Given the description of an element on the screen output the (x, y) to click on. 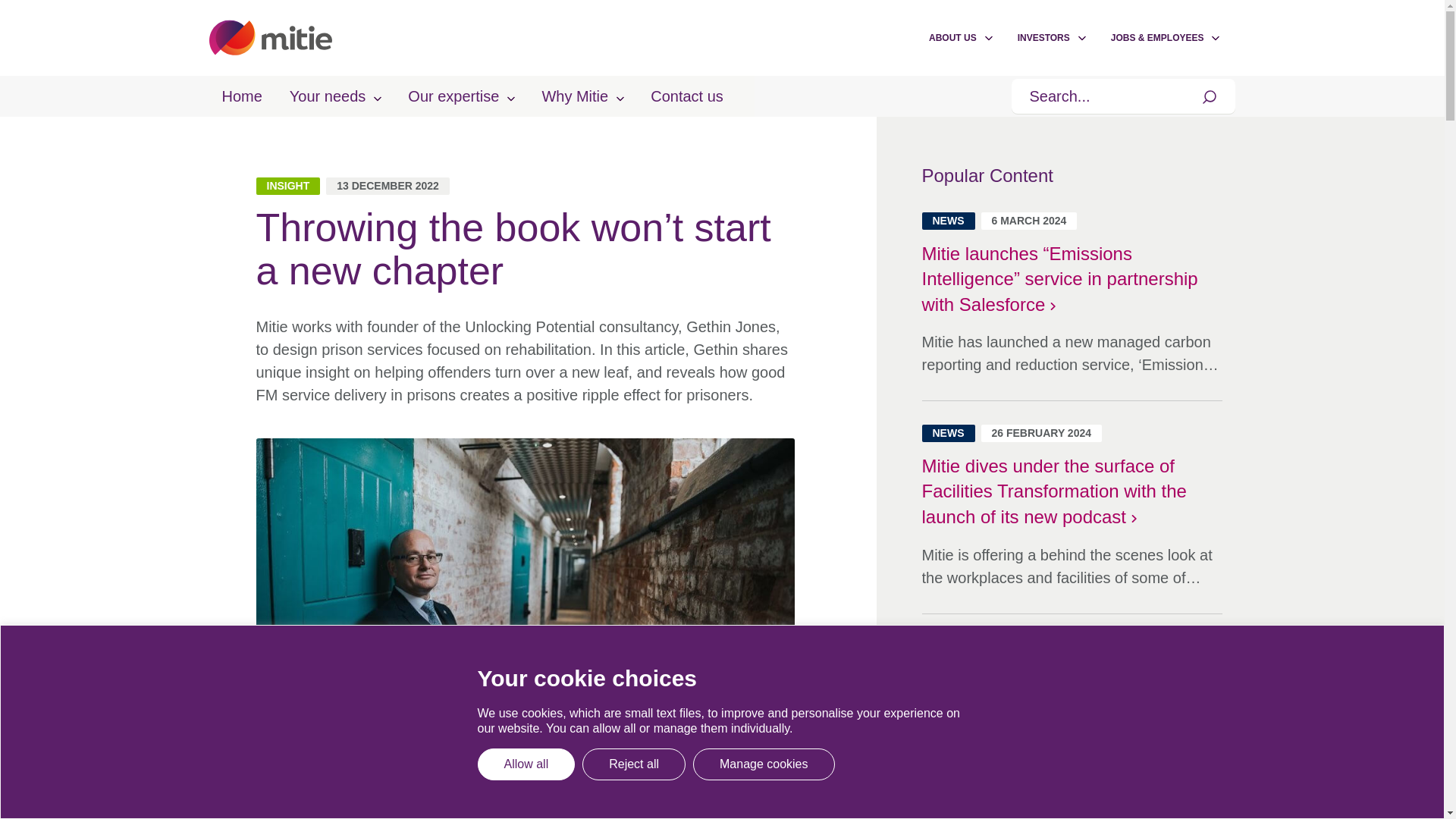
ABOUT US (952, 37)
Reject all (633, 764)
Allow all (526, 764)
INVESTORS (1043, 37)
Home (241, 96)
Manage cookies (763, 764)
